Given the description of an element on the screen output the (x, y) to click on. 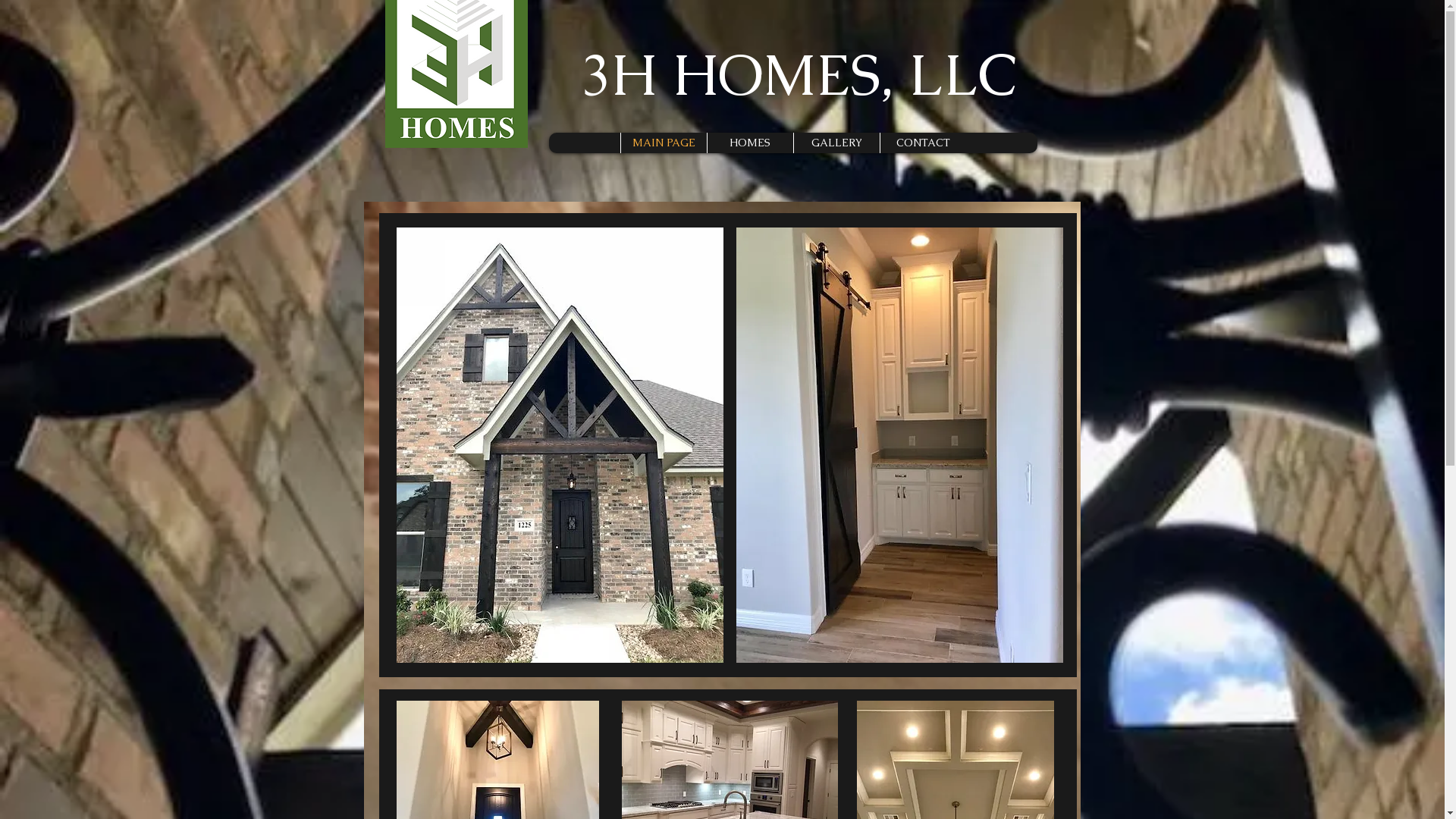
GALLERY Element type: text (836, 142)
3HHomesLogo.PNG Element type: hover (456, 540)
CONTACT Element type: text (922, 142)
MAIN PAGE Element type: text (663, 142)
HOMES Element type: text (749, 142)
